Given the description of an element on the screen output the (x, y) to click on. 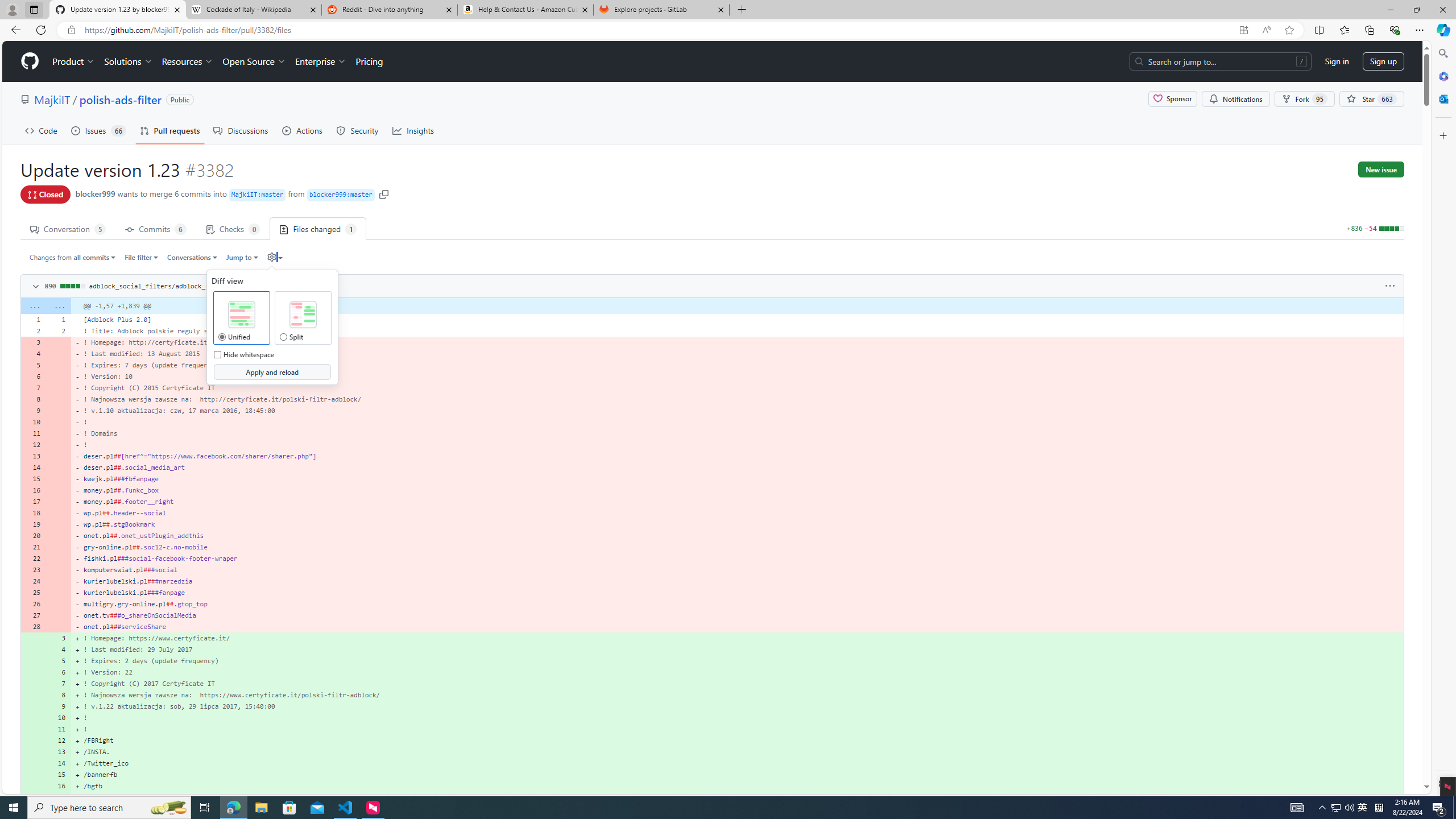
+ /btnartwrzuta  (737, 797)
- ! Copyright (C) 2015 Certyficate IT (737, 387)
Enterprise (319, 60)
11 (58, 728)
Actions (302, 130)
- ! (737, 444)
10 (58, 717)
- onet.pl###serviceShare (737, 626)
New issue (1380, 169)
- ! v.1.10 aktualizacja: czw, 17 marca 2016, 18:45:00  (737, 410)
Sponsor MajkiIT/polish-ads-filter (1171, 98)
